Given the description of an element on the screen output the (x, y) to click on. 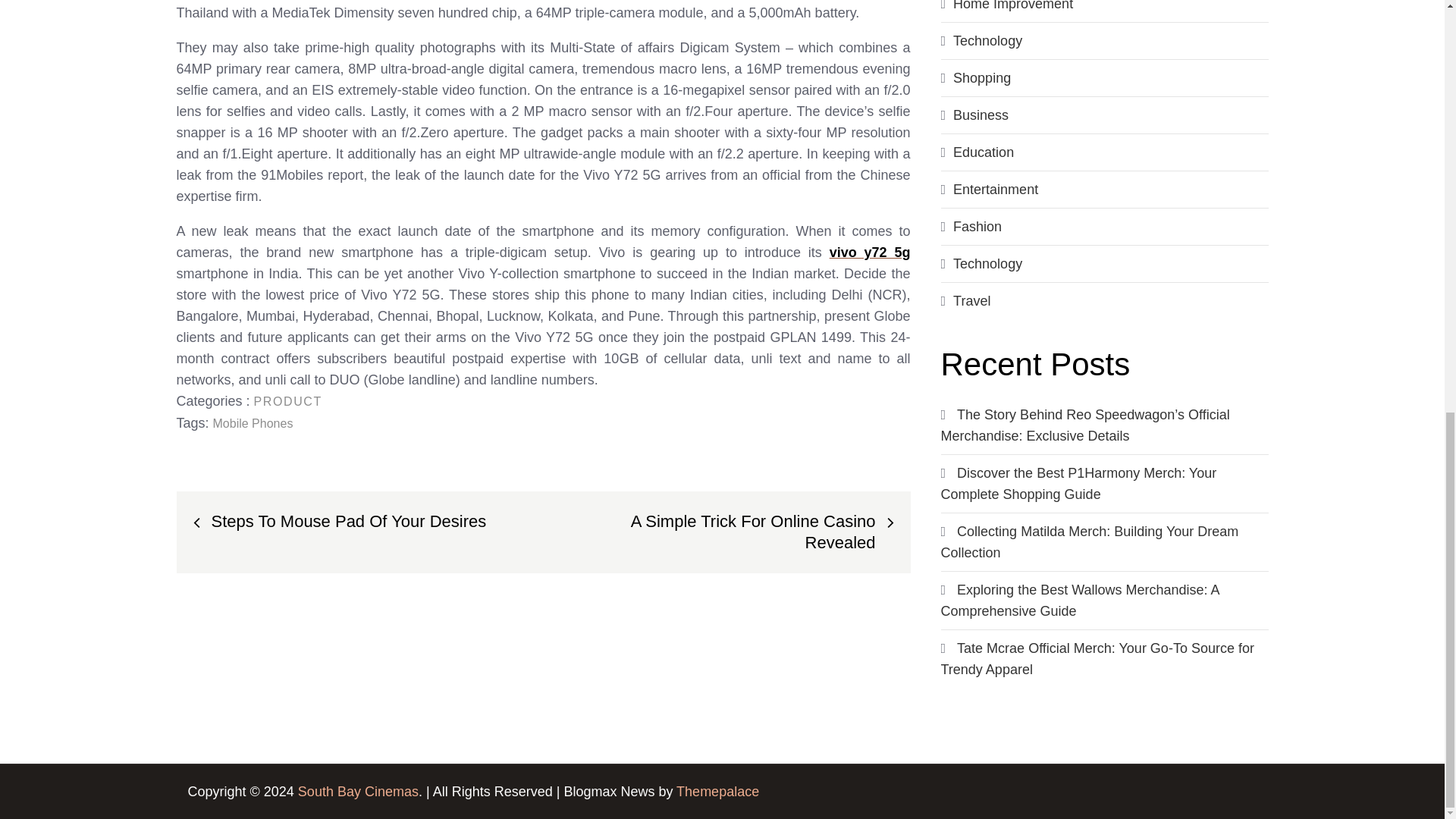
PRODUCT (287, 400)
Business (981, 114)
Home Improvement (1013, 5)
Fashion (977, 226)
vivo y72 5g (870, 252)
Mobile Phones (253, 422)
Shopping (981, 77)
Education (983, 151)
